Given the description of an element on the screen output the (x, y) to click on. 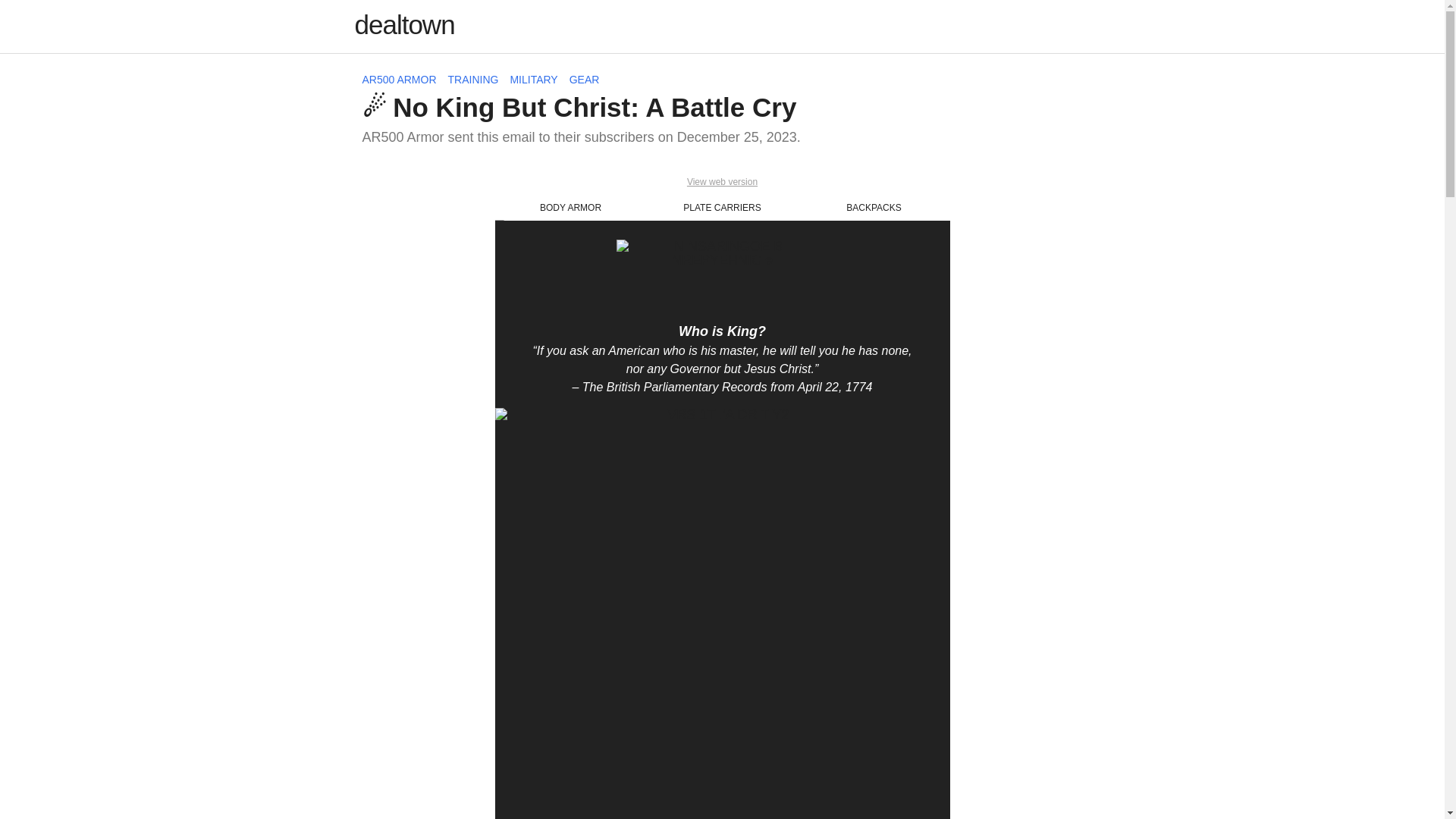
View web version (722, 181)
BACKPACKS (873, 205)
No King But Christ (722, 274)
PLATE CARRIERS (721, 205)
AR500 ARMOR (399, 79)
View web version (722, 181)
BODY ARMOR (570, 205)
dealtown (404, 24)
